Given the description of an element on the screen output the (x, y) to click on. 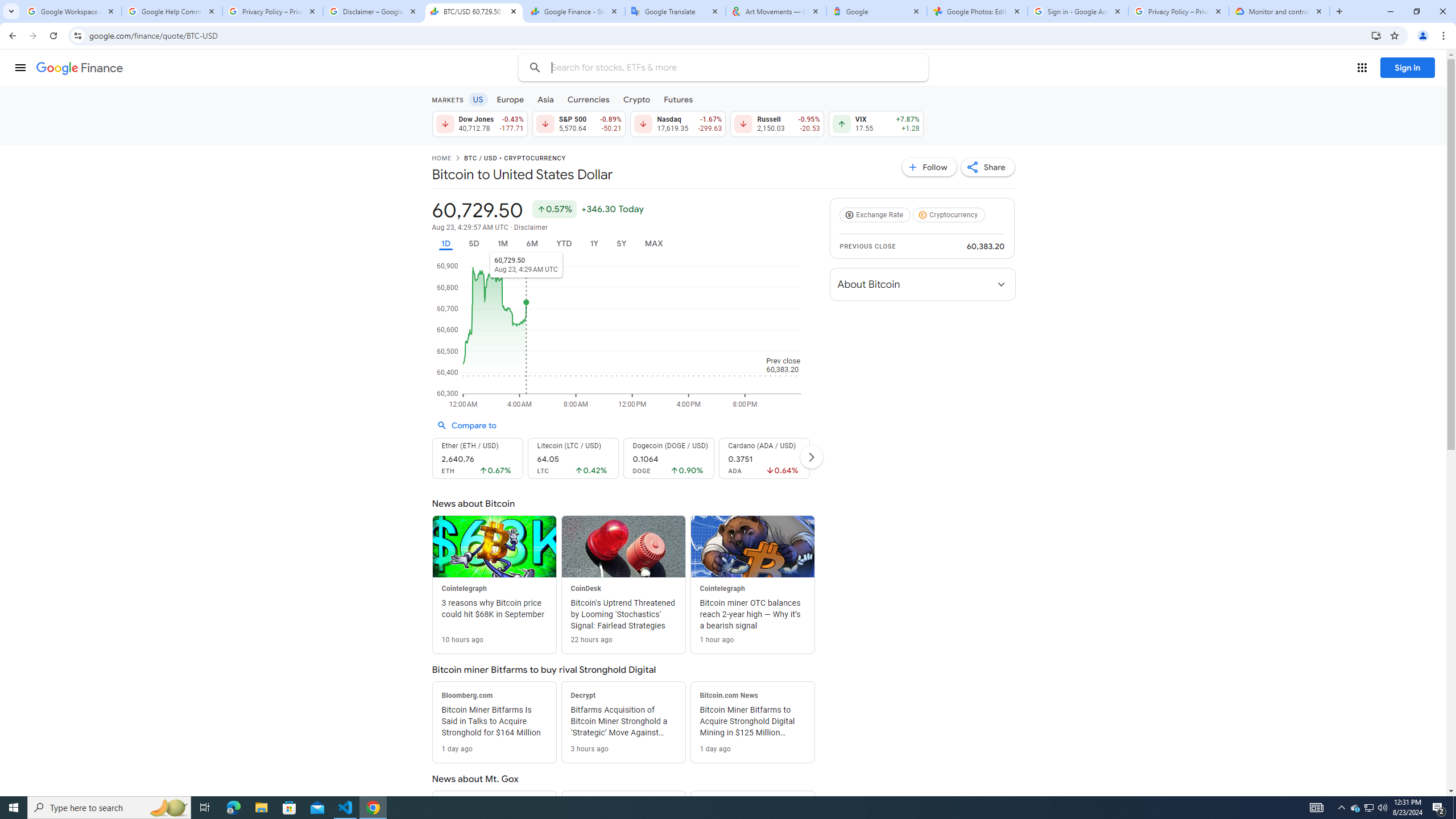
Google (876, 11)
Exchange Rate (876, 214)
6M (531, 243)
Google Workspace Admin Community (71, 11)
